Given the description of an element on the screen output the (x, y) to click on. 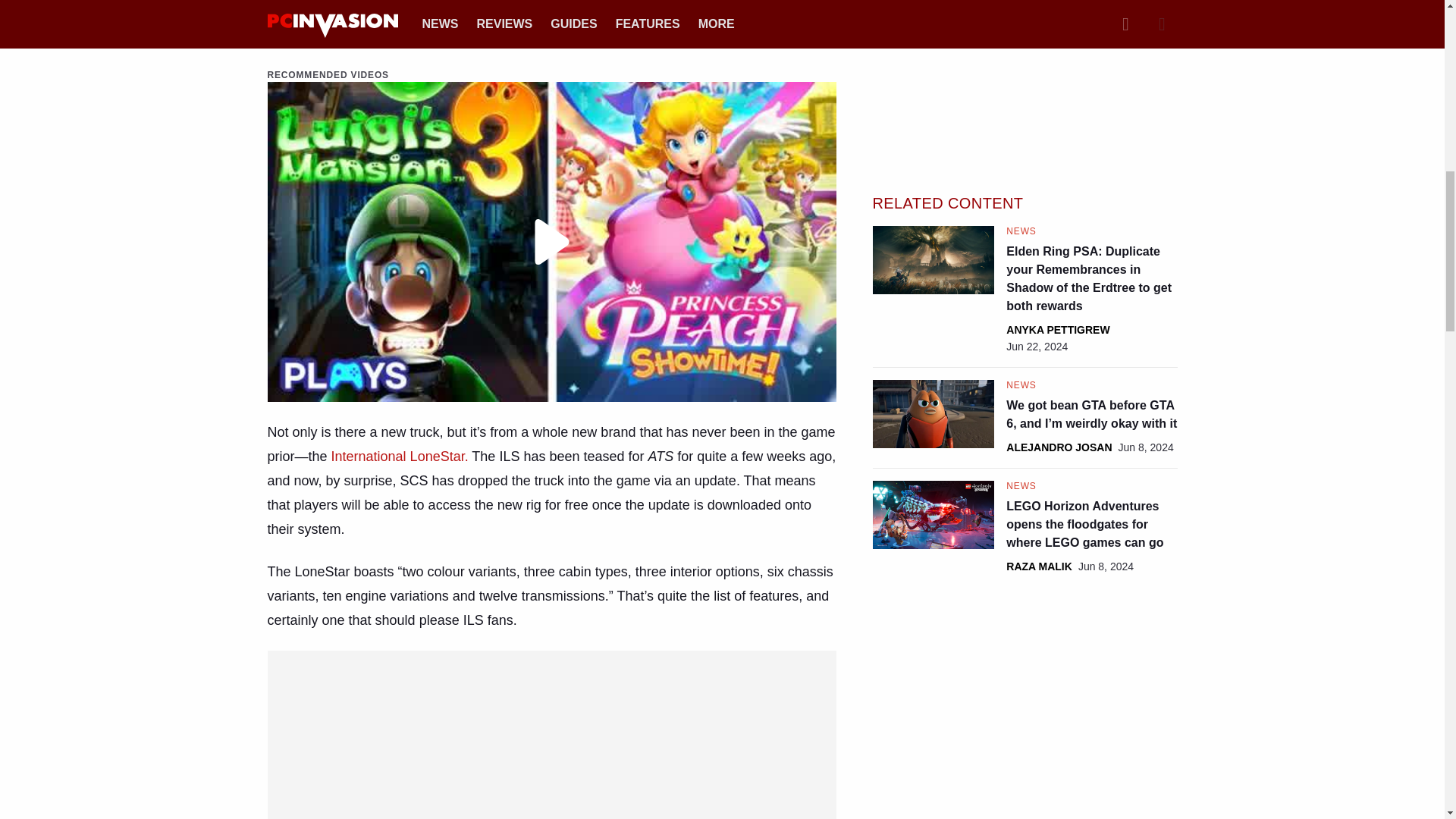
3rd party ad content (1024, 65)
in the form of Utah. (732, 13)
International LoneStar. (399, 456)
3rd party ad content (552, 696)
